Given the description of an element on the screen output the (x, y) to click on. 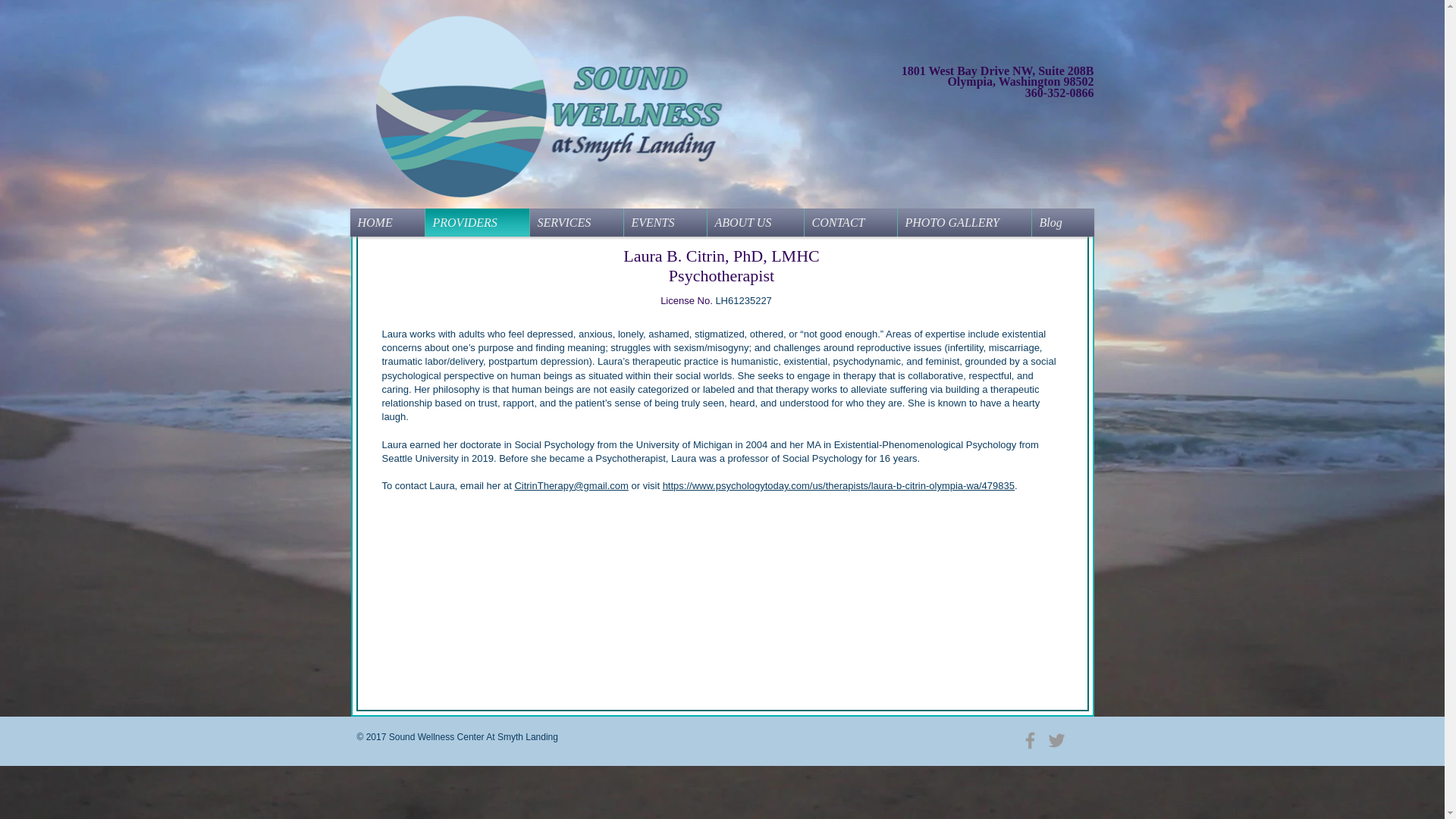
Blog (1061, 222)
EVENTS (664, 222)
ABOUT US (754, 222)
360-352-0866 (1059, 92)
darker logo for soundwellness.png (543, 106)
PROVIDERS (476, 222)
SERVICES (576, 222)
PHOTO GALLERY (964, 222)
CONTACT (849, 222)
HOME (387, 222)
